Given the description of an element on the screen output the (x, y) to click on. 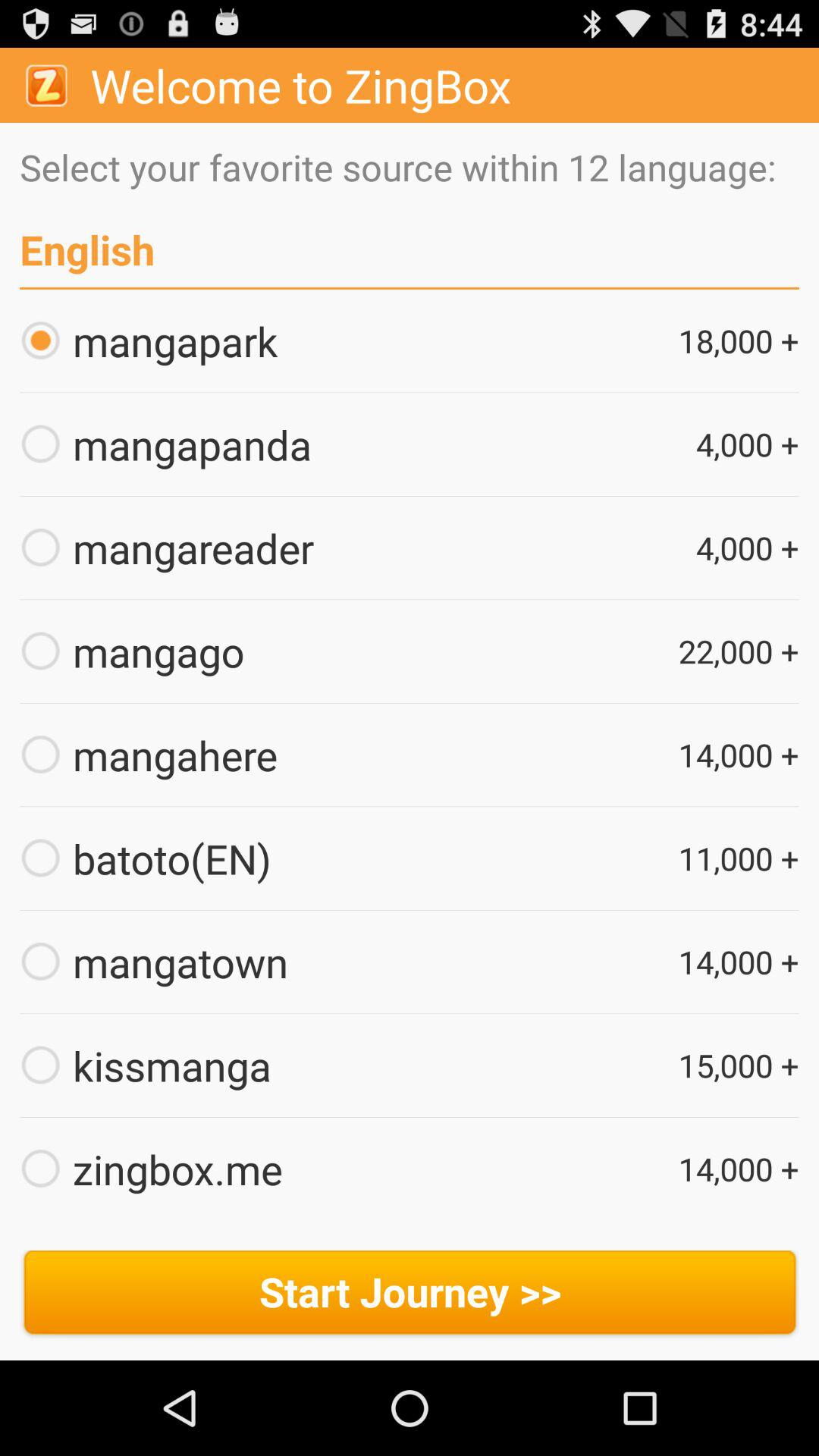
tap on the button start journey present at the bottom of the page (409, 1295)
